Given the description of an element on the screen output the (x, y) to click on. 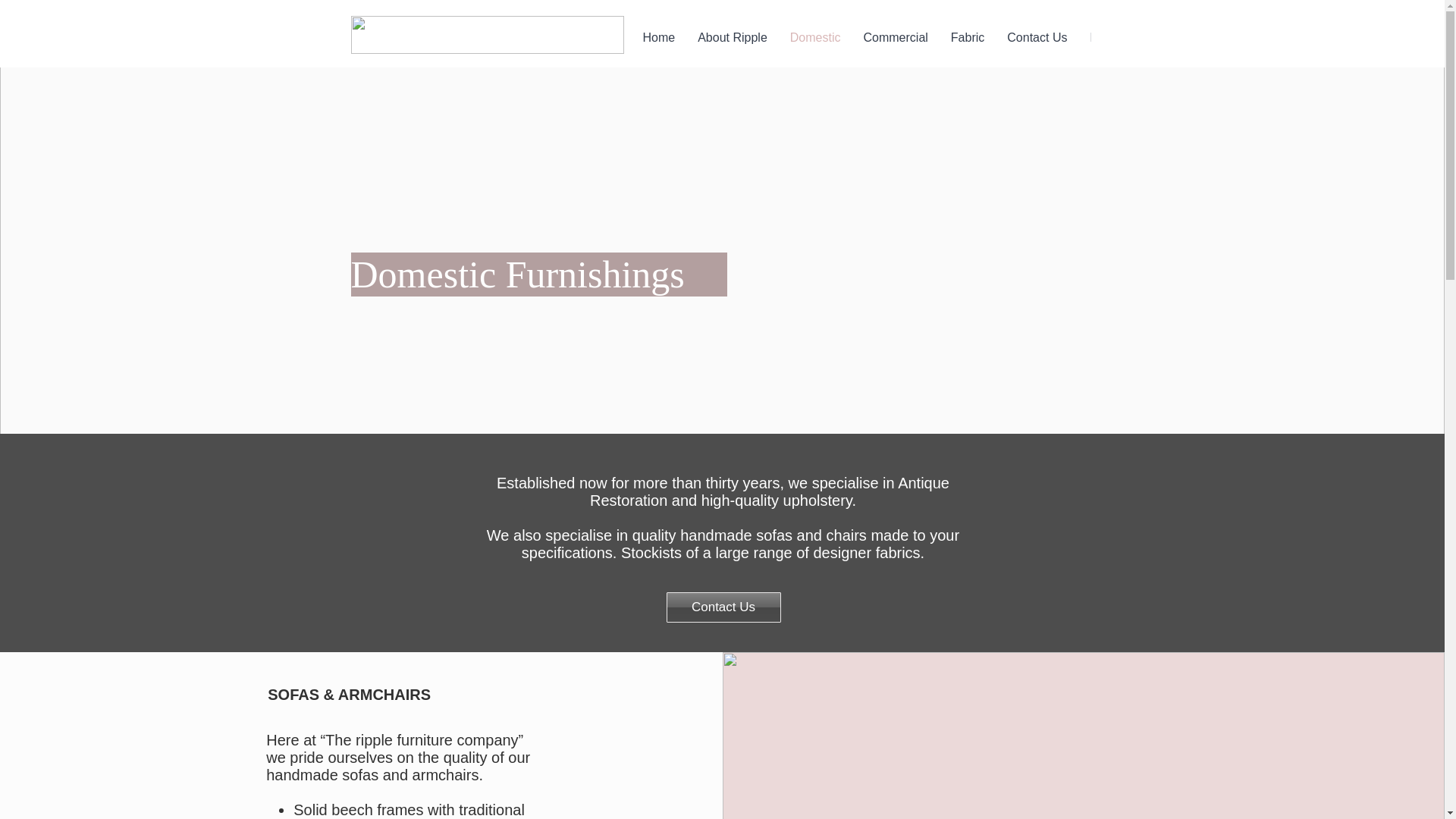
Domestic (814, 48)
Commercial (895, 48)
Fabric (967, 48)
Contact Us (1036, 48)
Home (657, 48)
Contact Us (722, 607)
About Ripple (731, 48)
